Given the description of an element on the screen output the (x, y) to click on. 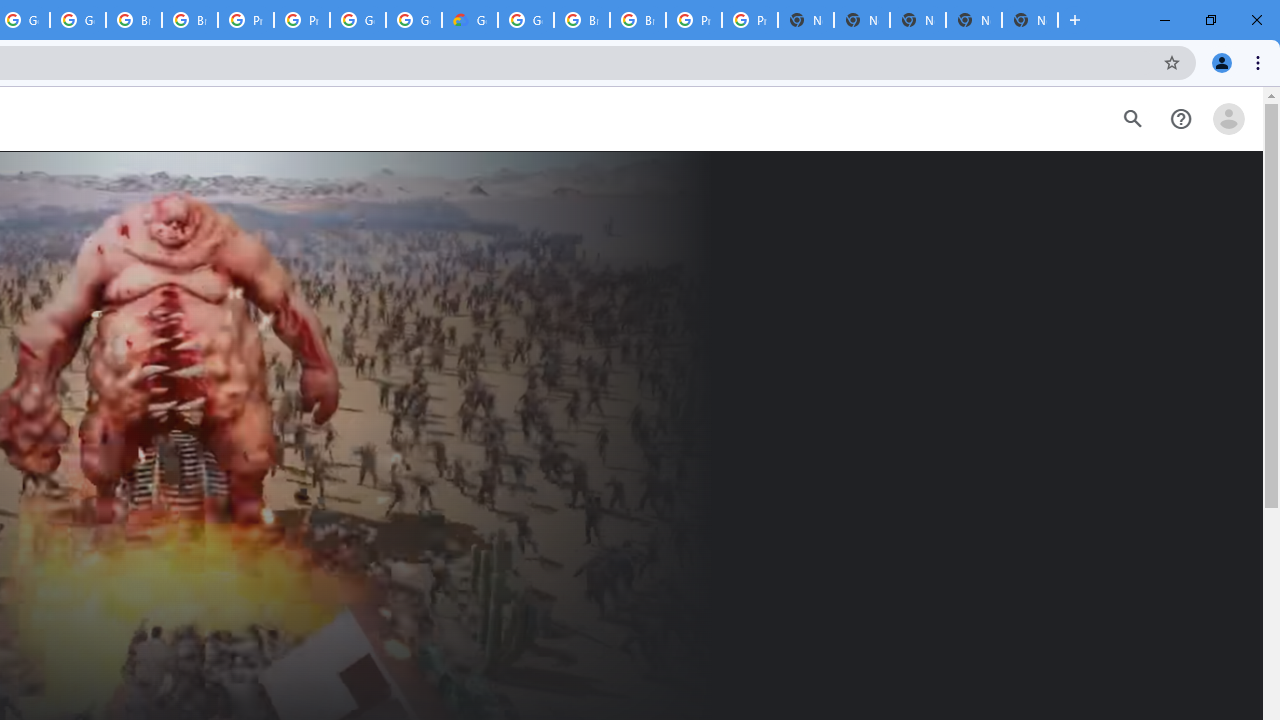
Open account menu (1228, 119)
Help Center (1180, 119)
Browse Chrome as a guest - Computer - Google Chrome Help (582, 20)
Google Cloud Estimate Summary (469, 20)
Google Cloud Platform (358, 20)
Search (1132, 119)
Browse Chrome as a guest - Computer - Google Chrome Help (189, 20)
Browse Chrome as a guest - Computer - Google Chrome Help (134, 20)
Browse Chrome as a guest - Computer - Google Chrome Help (637, 20)
